Given the description of an element on the screen output the (x, y) to click on. 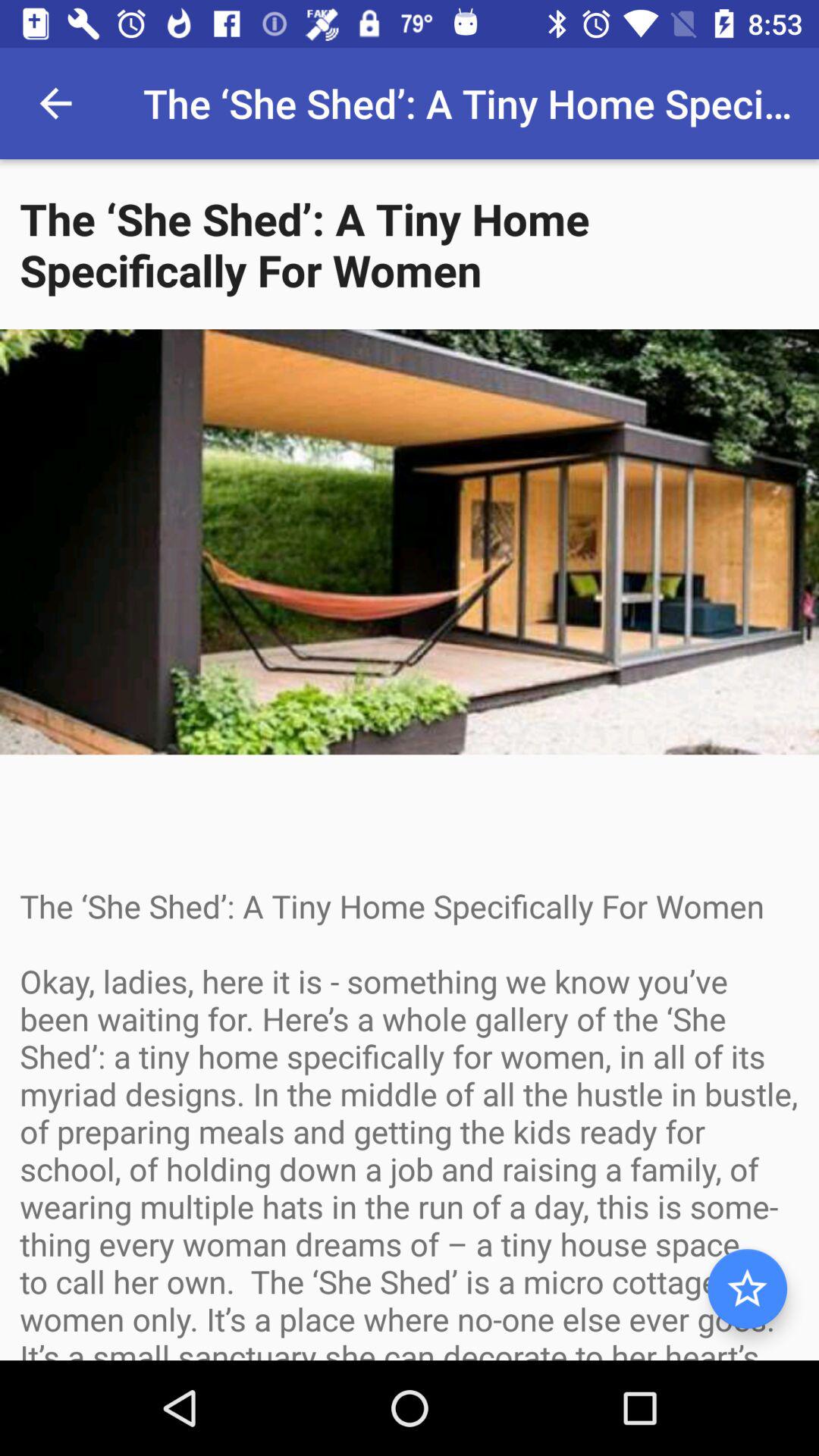
select the icon above the she shed (55, 103)
